Given the description of an element on the screen output the (x, y) to click on. 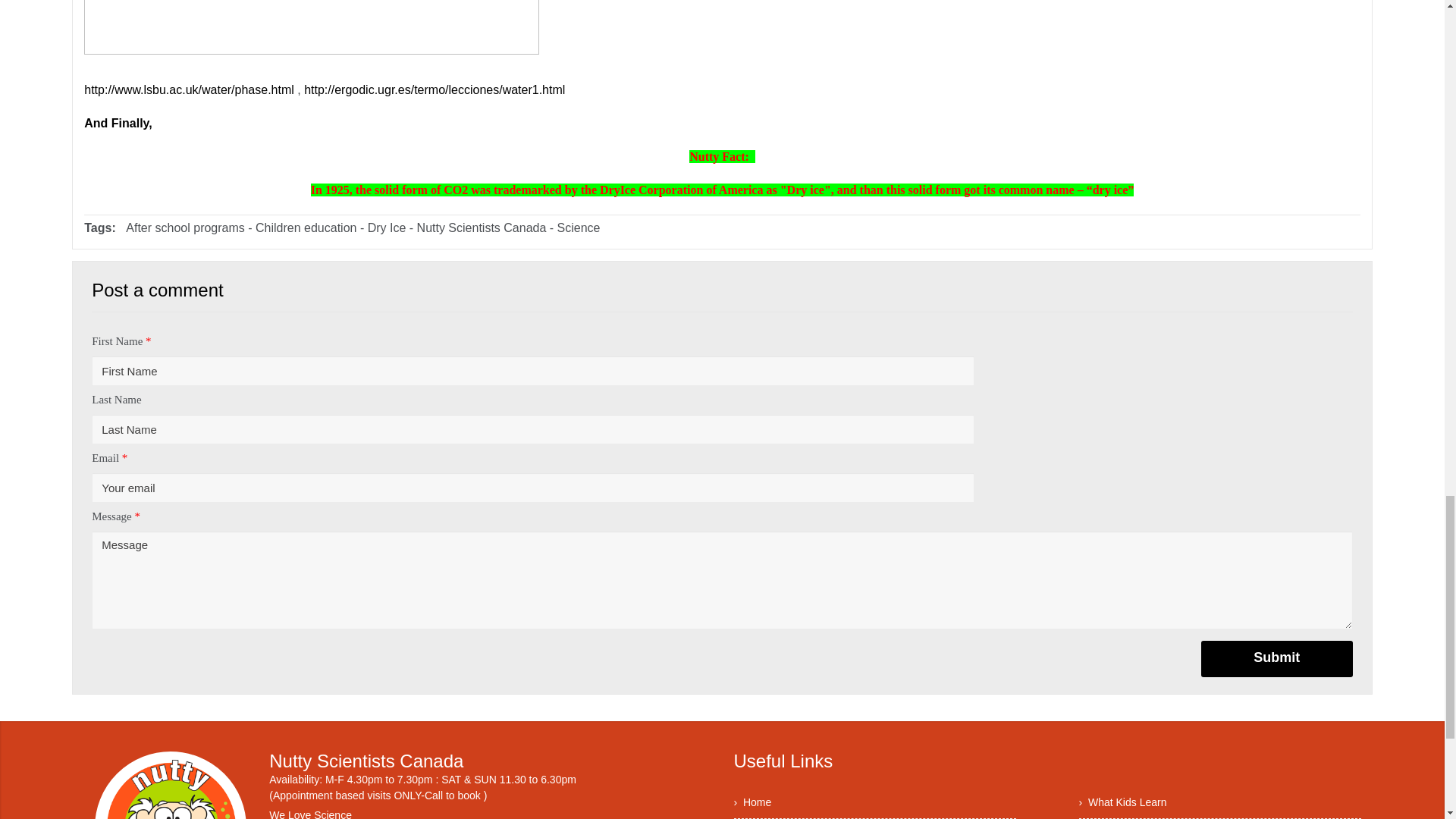
Science (578, 227)
Children education (306, 227)
After school programs (184, 227)
Dry Ice (388, 227)
Nutty Scientists Canada (481, 227)
